Given the description of an element on the screen output the (x, y) to click on. 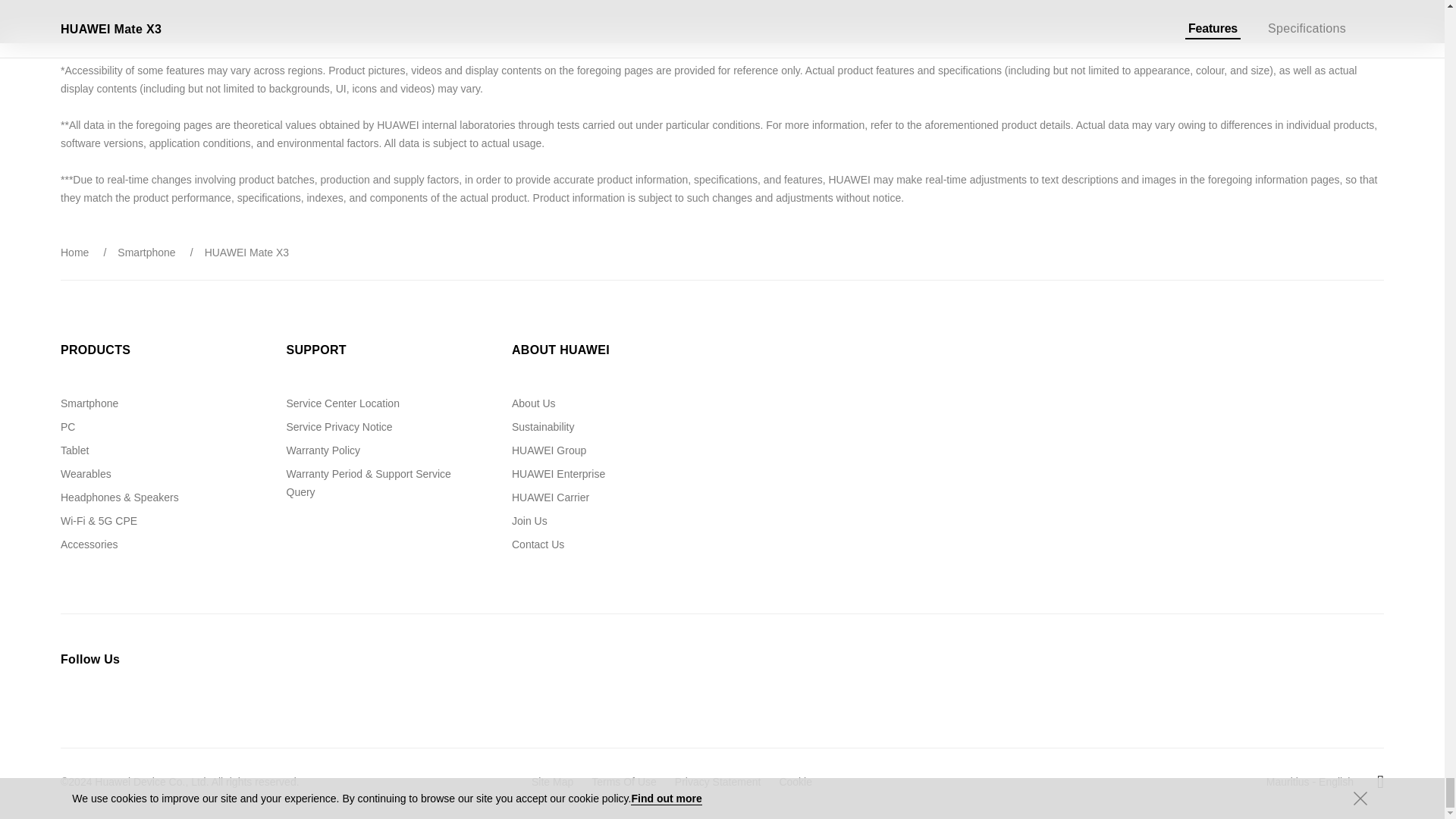
About Us (534, 403)
Service Privacy Notice (339, 426)
Home (74, 252)
PC (68, 426)
Warranty Policy (323, 450)
Service Center Location (342, 403)
Smartphone (89, 403)
Accessories (89, 544)
Wearables (86, 473)
Tablet (74, 450)
Smartphone (145, 252)
